Given the description of an element on the screen output the (x, y) to click on. 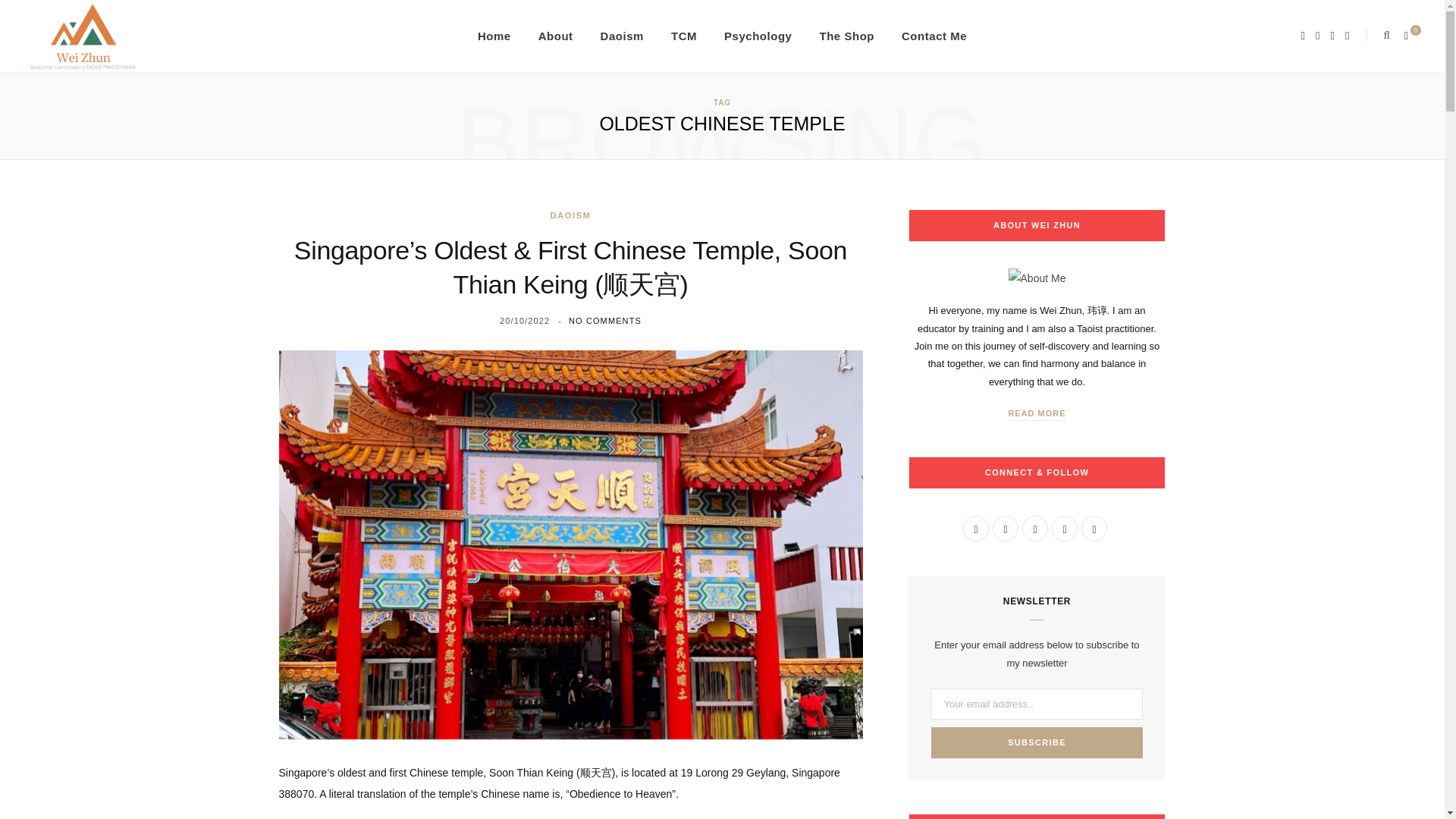
Twitter (1004, 528)
RSS (1093, 528)
Daoism (622, 36)
Facebook (975, 528)
READ MORE (1036, 414)
Psychology (757, 36)
The Shop (846, 36)
Lee Wei Zhun (82, 36)
Instagram (1035, 528)
Subscribe (1036, 742)
Contact Me (933, 36)
DAOISM (570, 215)
NO COMMENTS (605, 320)
Vimeo (1064, 528)
Subscribe (1036, 742)
